Given the description of an element on the screen output the (x, y) to click on. 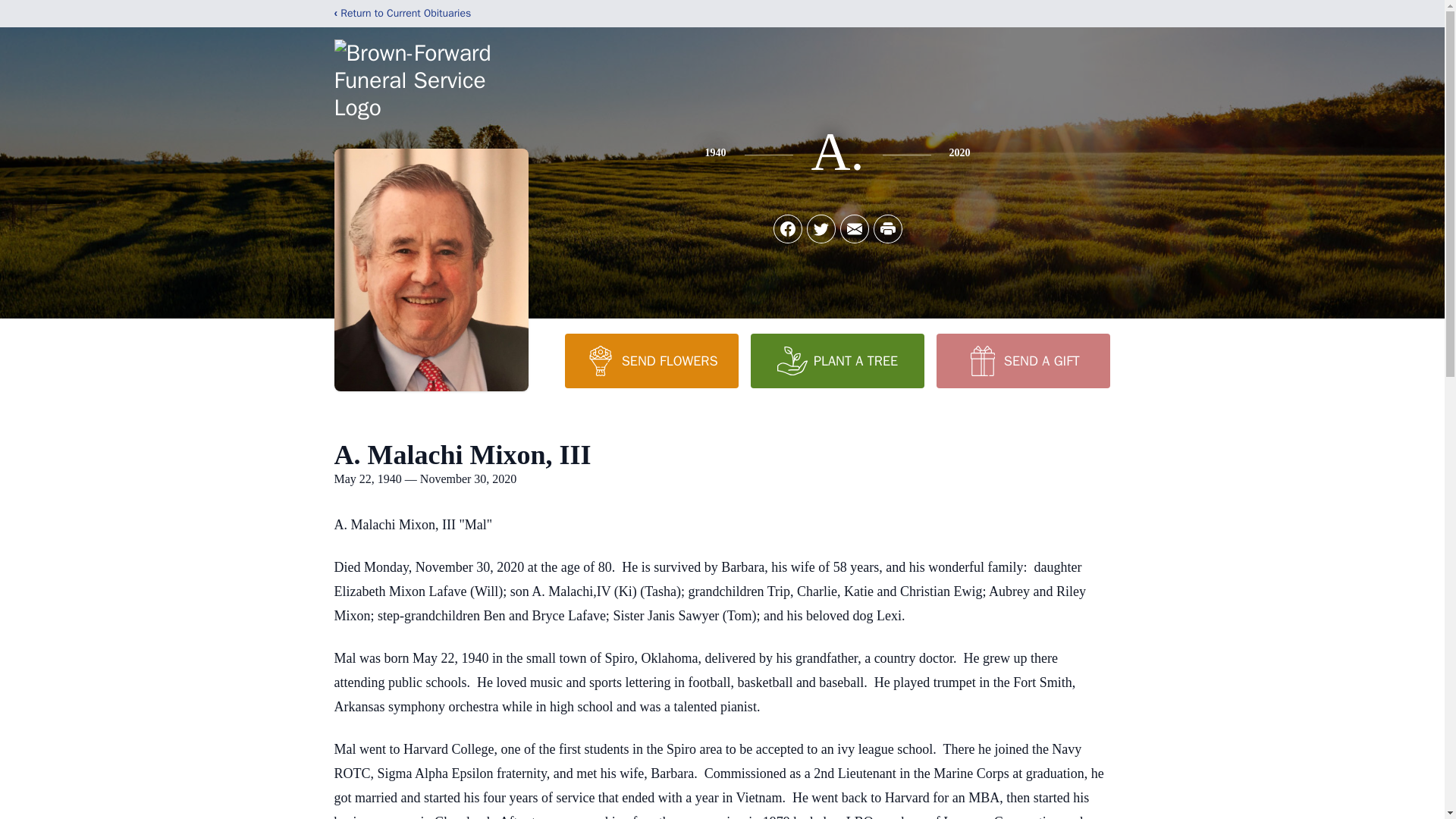
PLANT A TREE (837, 360)
SEND FLOWERS (651, 360)
SEND A GIFT (1022, 360)
